Given the description of an element on the screen output the (x, y) to click on. 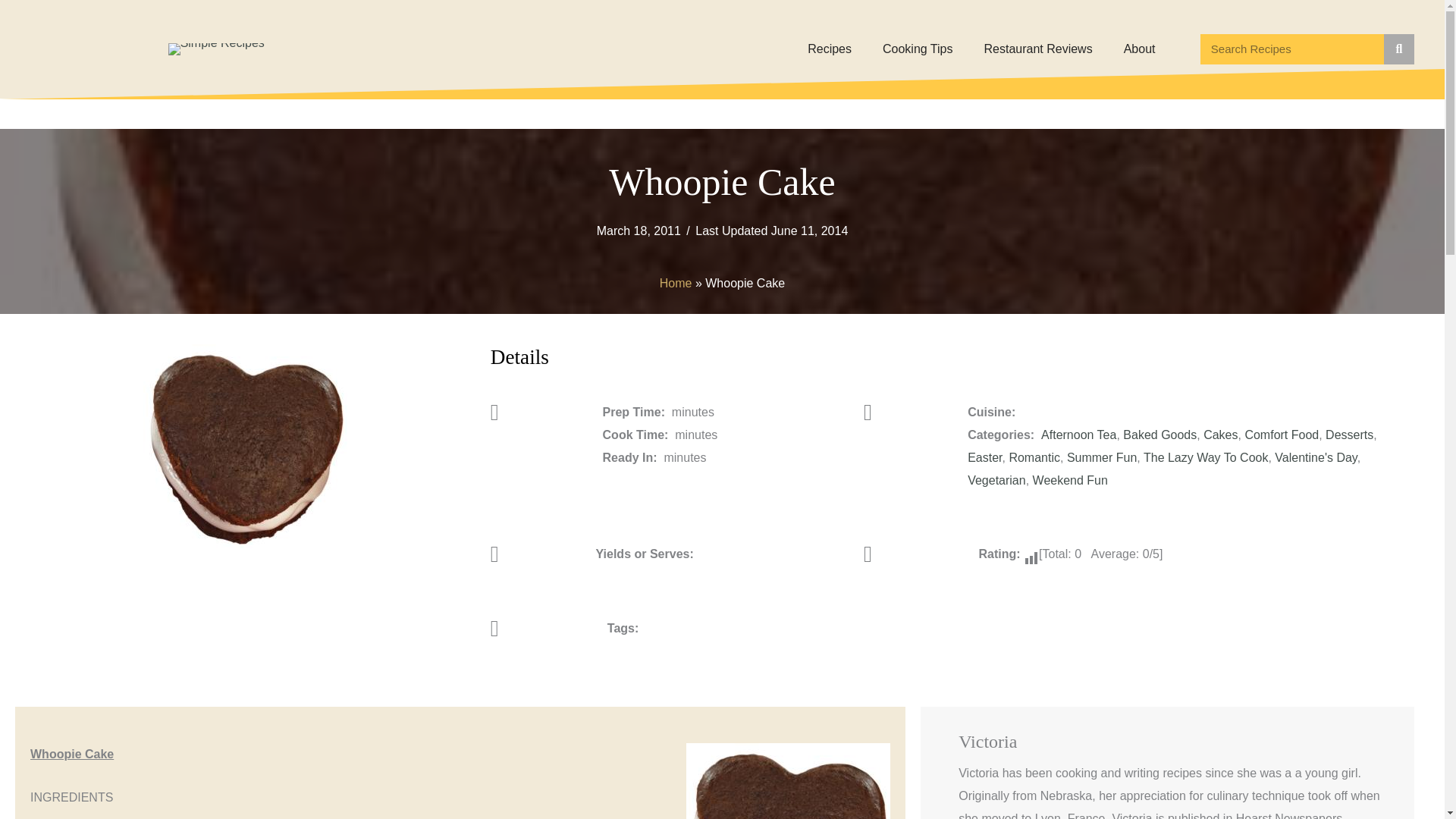
Summer Fun (1102, 457)
Afternoon Tea (1078, 434)
tnyl-logo-primary2020-300x129 (216, 49)
Weekend Fun (1070, 480)
Easter (984, 457)
Home (676, 282)
Comfort Food (1281, 434)
Cakes (1220, 434)
Cooking Tips (917, 49)
Whoopie Cake (244, 445)
